Given the description of an element on the screen output the (x, y) to click on. 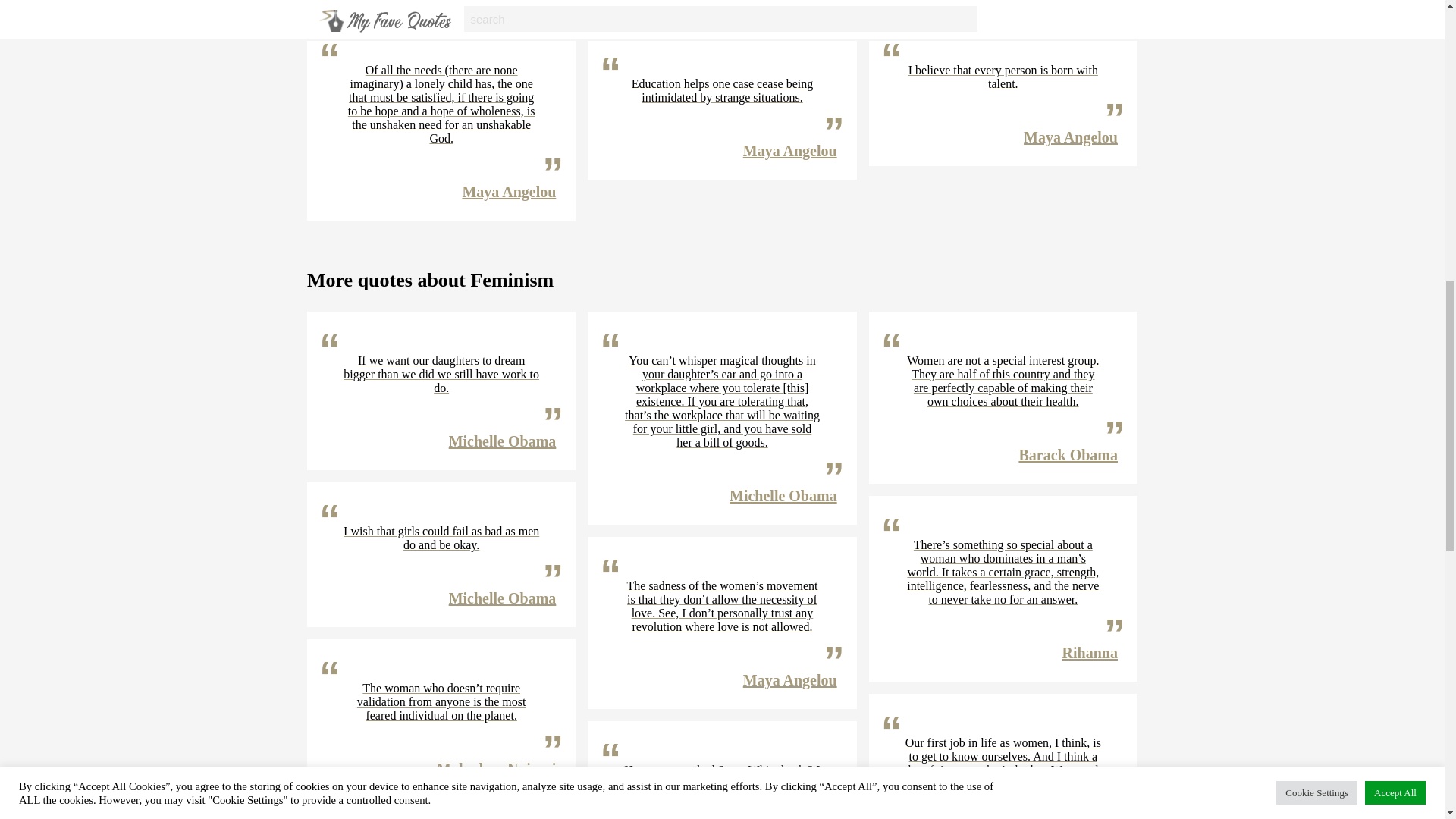
Michelle Obama (502, 597)
I believe that every person is born with talent. (1002, 76)
I wish that girls could fail as bad as men do and be okay. (440, 538)
Michelle Obama (502, 441)
Maya Angelou (1070, 136)
Maya Angelou (789, 1)
Maya Angelou (789, 150)
Mohadesa Najumi (496, 768)
Maya Angelou (508, 191)
